Given the description of an element on the screen output the (x, y) to click on. 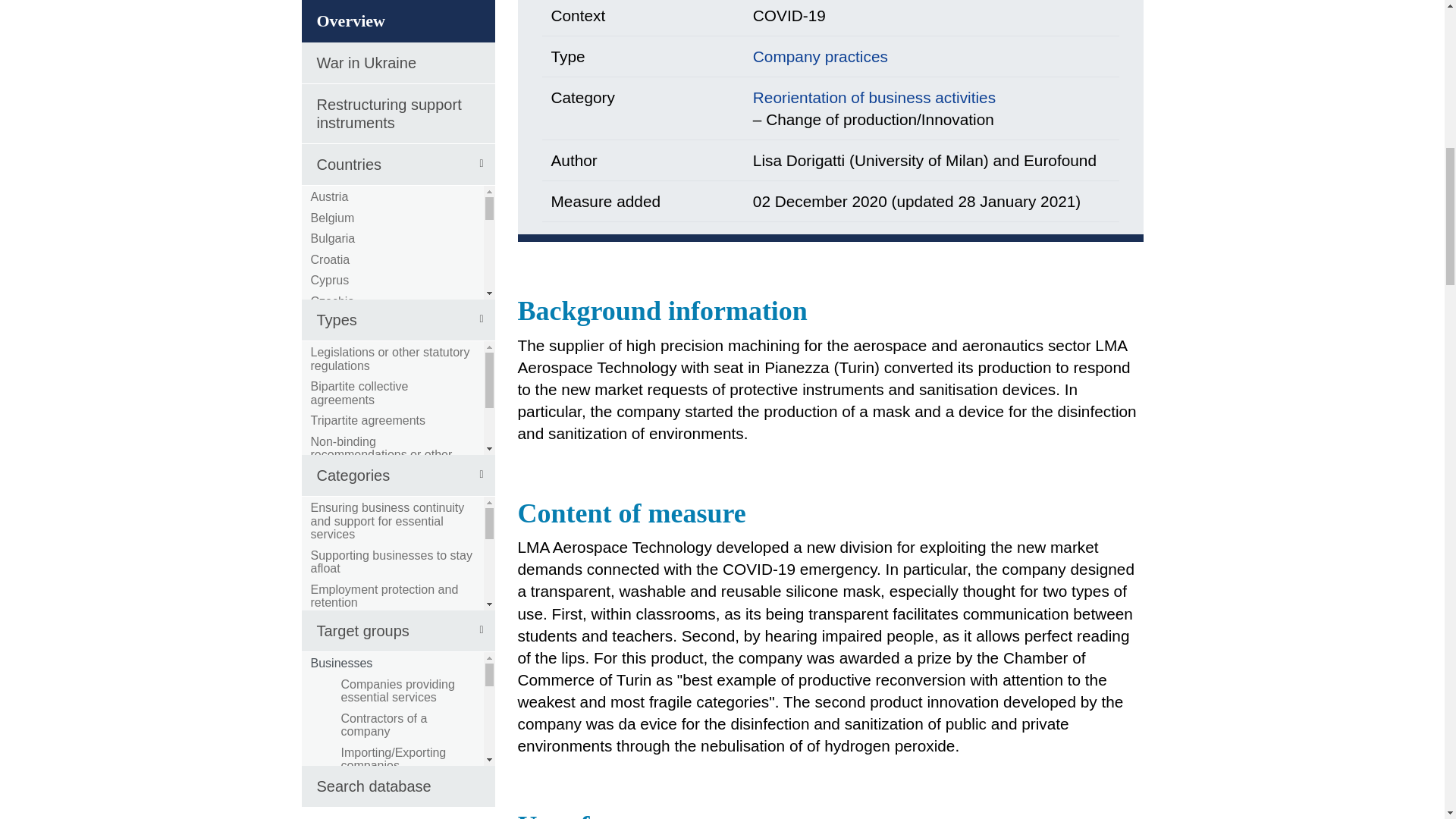
Lithuania (335, 42)
Target groups (398, 122)
View all cases of this type (820, 56)
Sweden (333, 273)
United Kingdom (354, 294)
Latvia (327, 21)
Luxembourg (344, 64)
Netherlands (343, 106)
Norway (331, 126)
View all cases in this category (873, 97)
Spain (326, 252)
Slovenia (333, 231)
Portugal (333, 169)
Italy (322, 4)
Slovakia (333, 210)
